Given the description of an element on the screen output the (x, y) to click on. 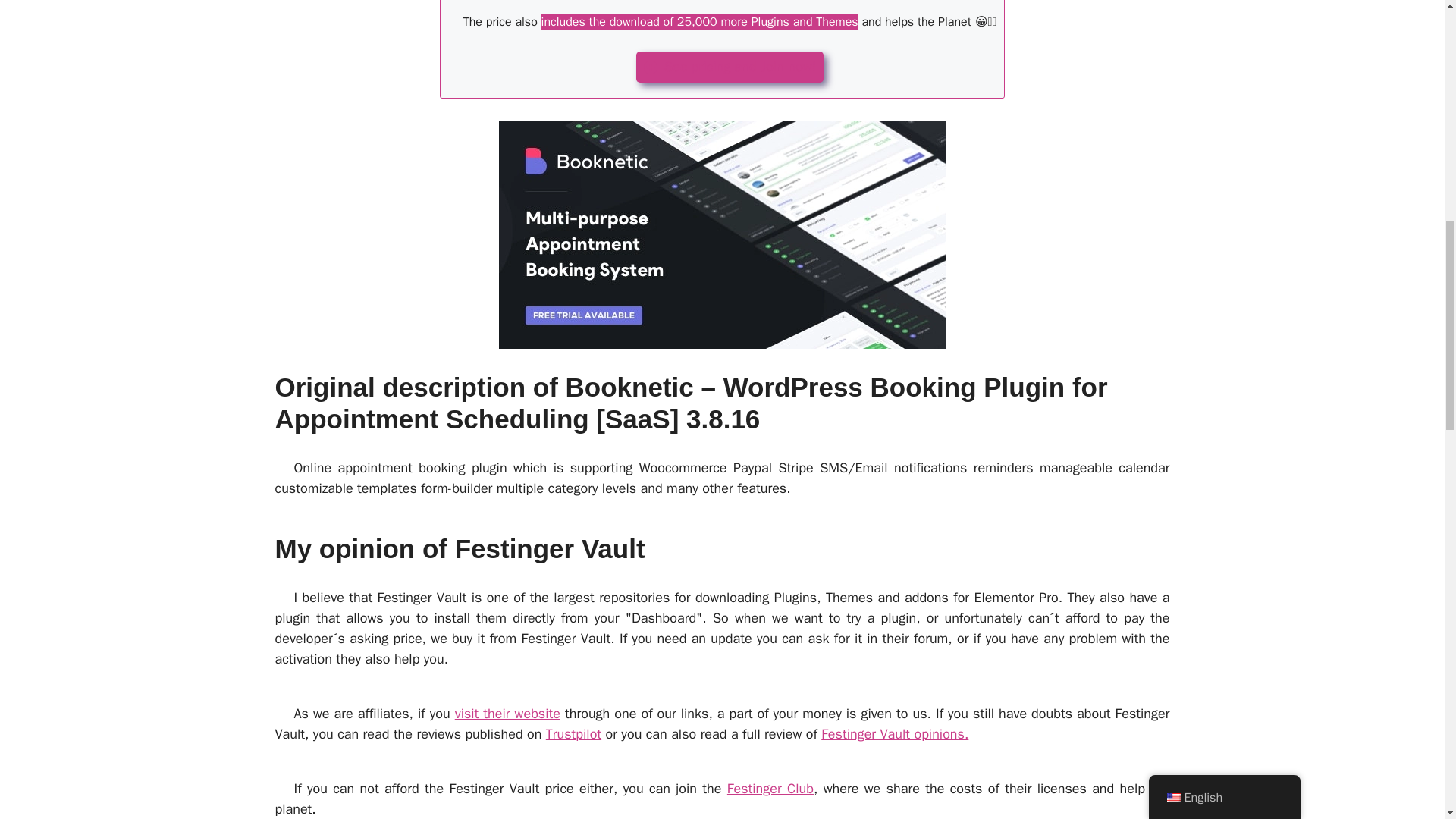
Scroll back to top (1406, 720)
